Given the description of an element on the screen output the (x, y) to click on. 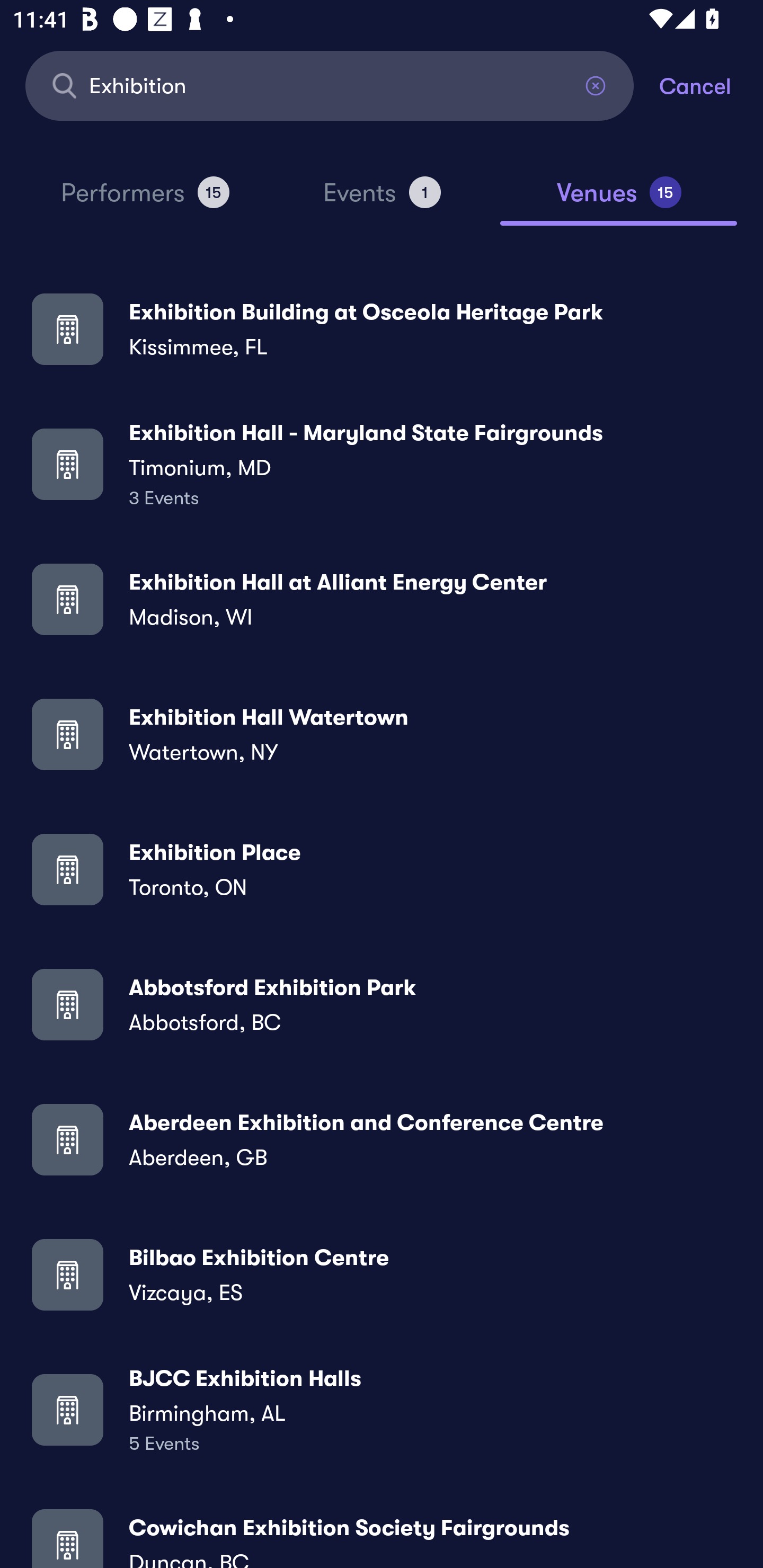
Exhibition Find (329, 85)
Exhibition Find (329, 85)
Cancel (711, 85)
Performers 15 (144, 200)
Events 1 (381, 200)
Venues 15 (618, 200)
Exhibition Hall Watertown Watertown, NY (381, 734)
Exhibition Place Toronto, ON (381, 869)
Abbotsford Exhibition Park Abbotsford, BC (381, 1004)
Bilbao Exhibition Centre Vizcaya, ES (381, 1273)
BJCC Exhibition Halls Birmingham, AL 5 Events (381, 1409)
Cowichan Exhibition Society Fairgrounds Duncan, BC (381, 1532)
